Given the description of an element on the screen output the (x, y) to click on. 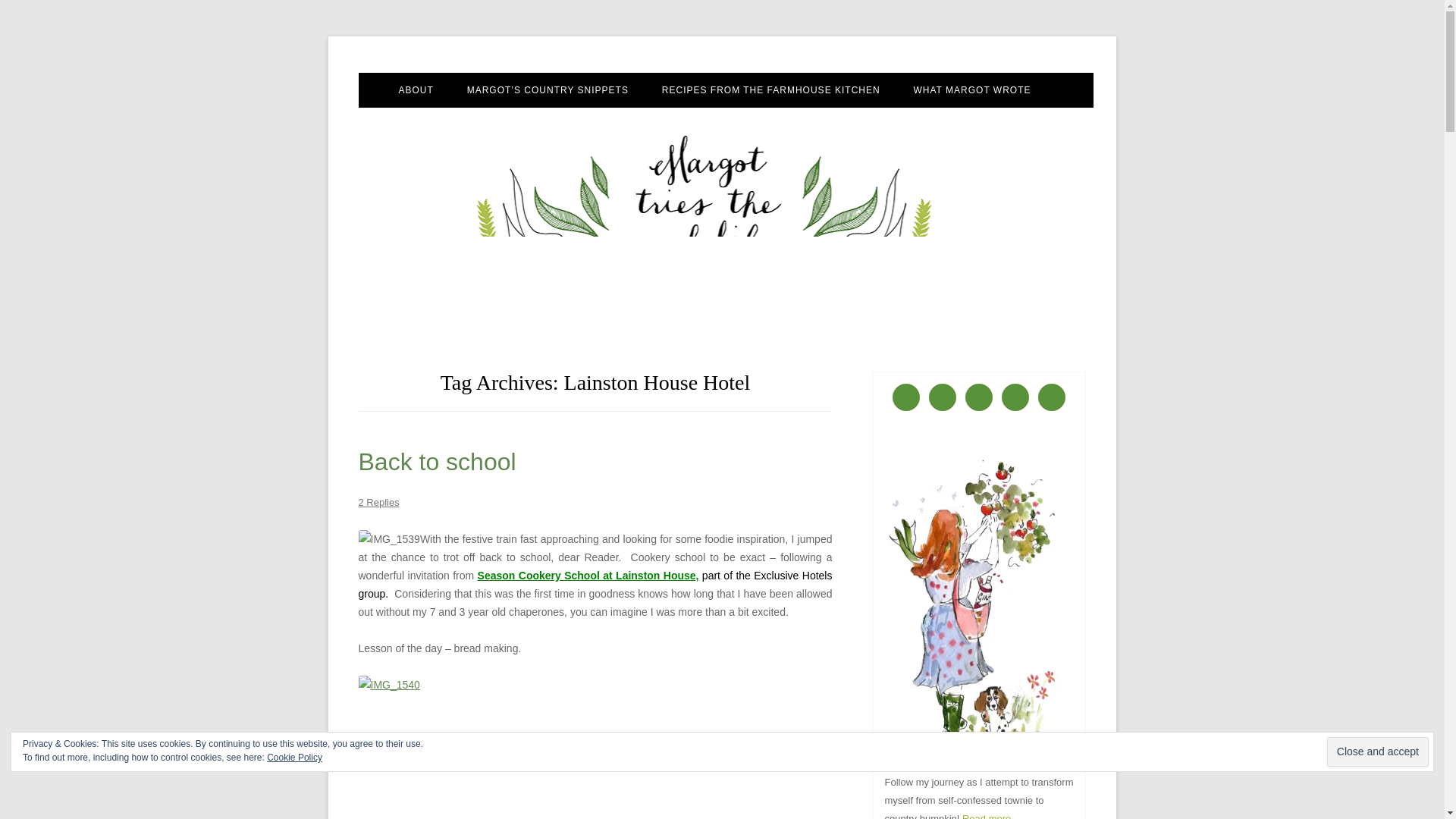
ABOUT (414, 90)
WHAT MARGOT WROTE (972, 90)
Margot Tries the Good Life (482, 72)
Back to school (436, 461)
RECIPES FROM THE FARMHOUSE KITCHEN (771, 90)
2 Replies (378, 501)
Close and accept (1377, 751)
Margot Tries the Good Life (482, 72)
THE FARMYARD (542, 122)
Season Cookery School at Lainston House, (587, 575)
